Given the description of an element on the screen output the (x, y) to click on. 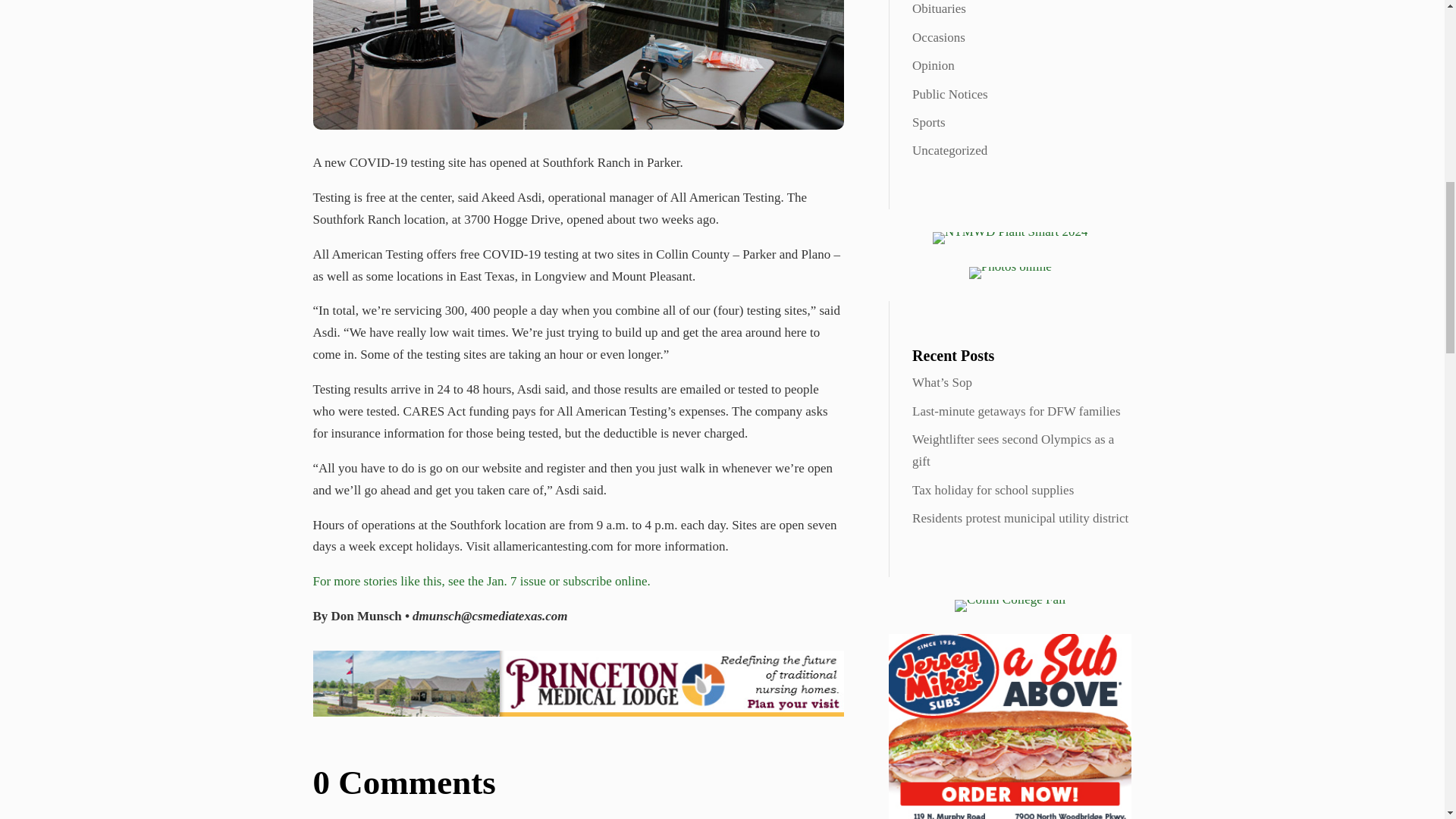
COVID testing (578, 64)
300-x-250-OrderPhotos (1010, 272)
Jersey Mikes 15095 Web banner Above 300x250 (1009, 726)
FY24-Summer-KnowWhenToWater-Static Ads 300x250 (1010, 237)
